Given the description of an element on the screen output the (x, y) to click on. 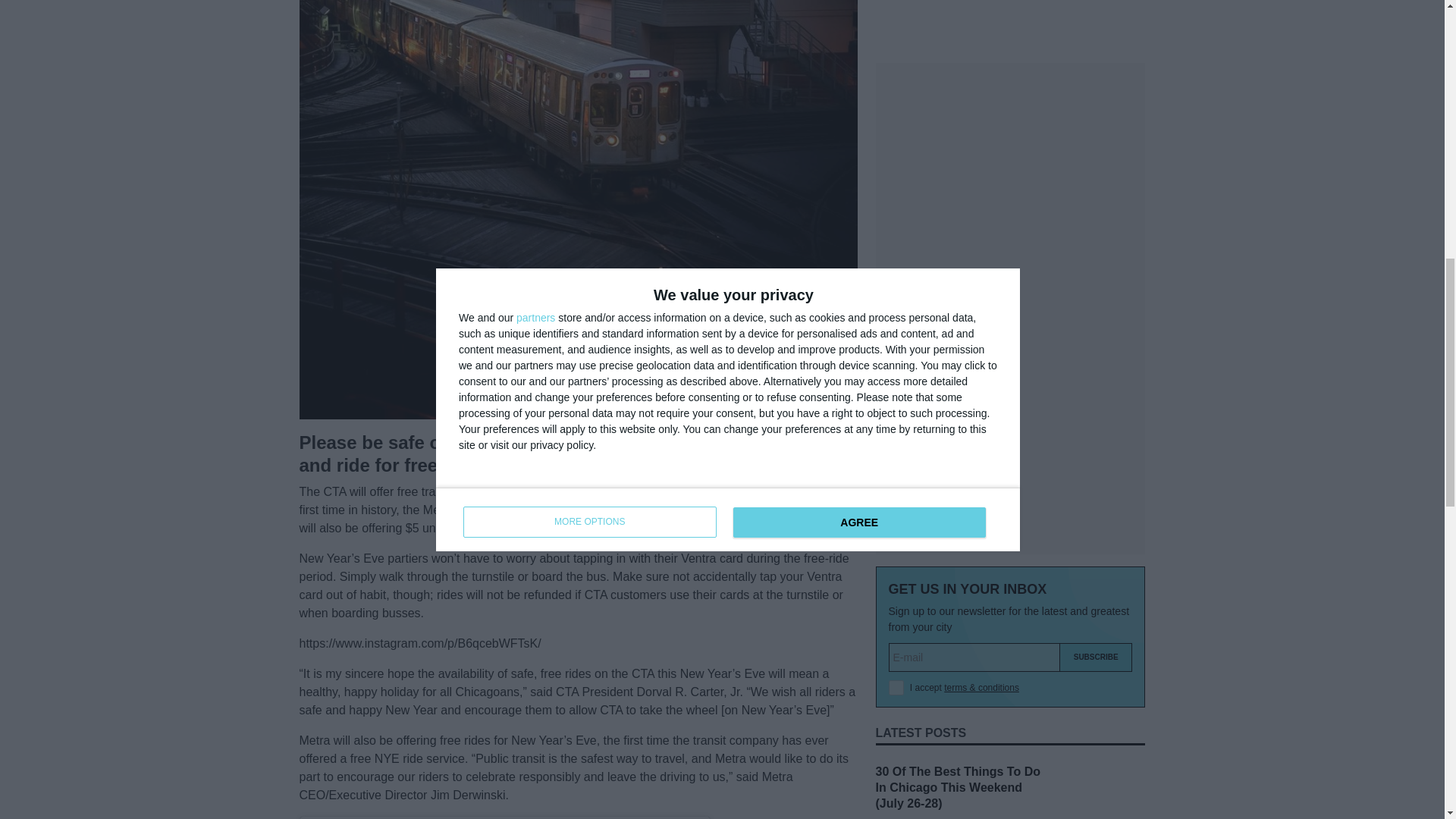
JULY 26, 2024 (904, 685)
Subscribe (1095, 316)
JULY 26, 2024 (904, 487)
1 (896, 346)
Subscribe (1095, 316)
JULY 26, 2024 (904, 586)
